Given the description of an element on the screen output the (x, y) to click on. 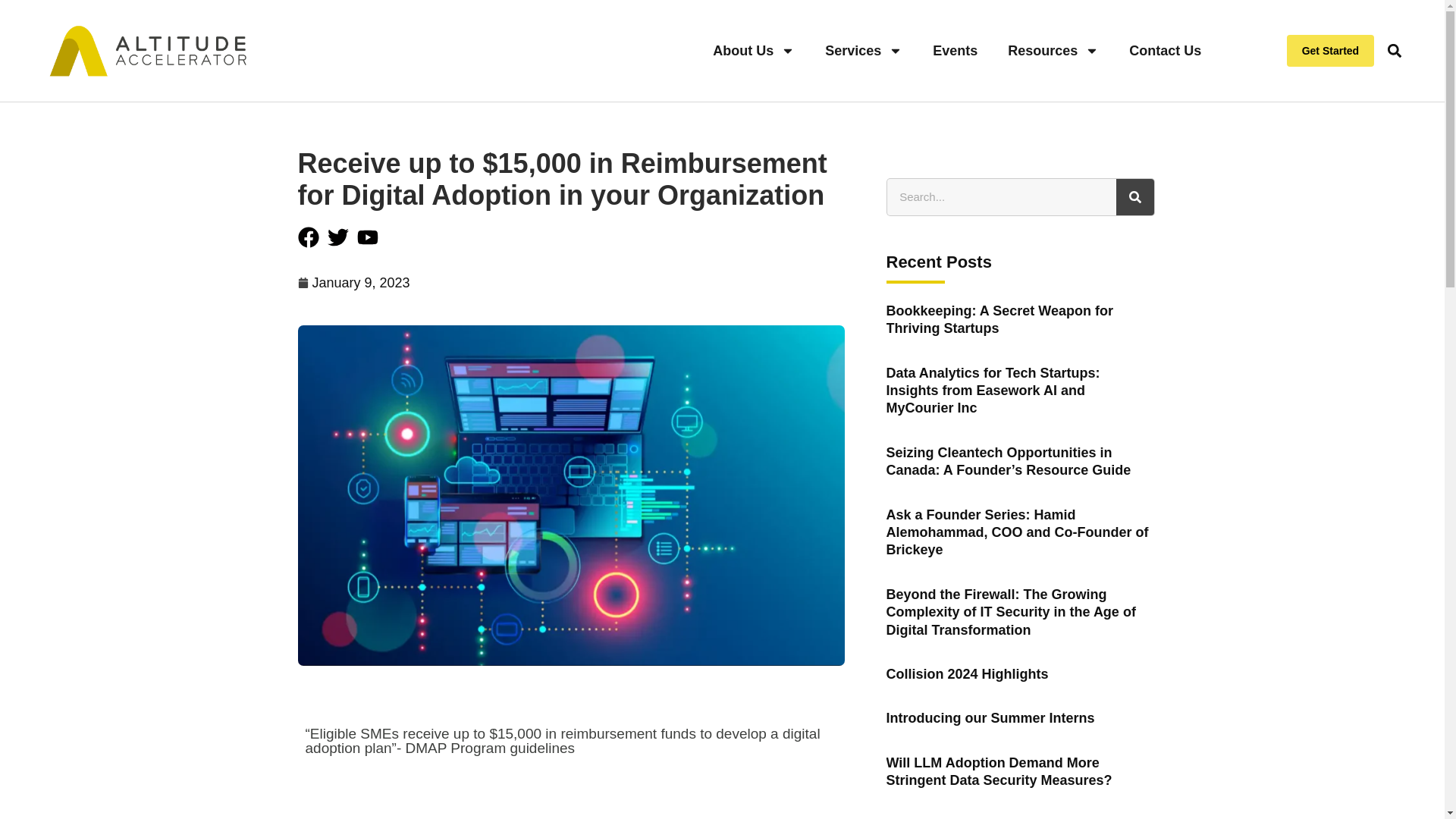
Resources (1052, 50)
Events (954, 50)
Contact Us (1164, 50)
Services (863, 50)
About Us (753, 50)
